Given the description of an element on the screen output the (x, y) to click on. 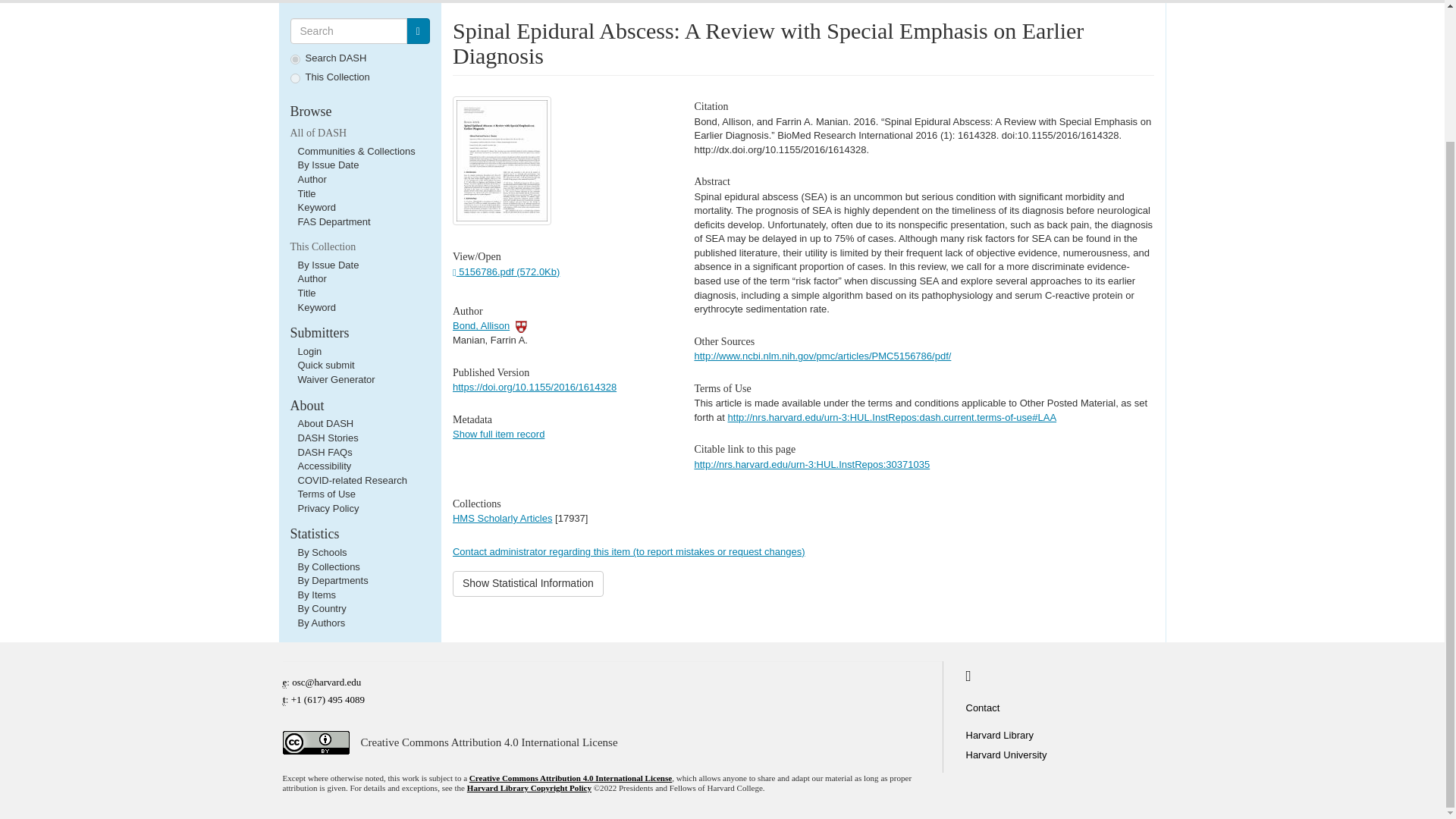
Keyword (316, 206)
Quick submit (325, 365)
Author (311, 179)
Login (309, 351)
By Issue Date (327, 265)
Author (311, 278)
Title (306, 292)
FAS Department (333, 221)
Waiver Generator (335, 378)
Keyword (316, 307)
Title (306, 193)
HARVARD AFFILIATED (521, 325)
By Issue Date (327, 164)
Go (417, 31)
